Given the description of an element on the screen output the (x, y) to click on. 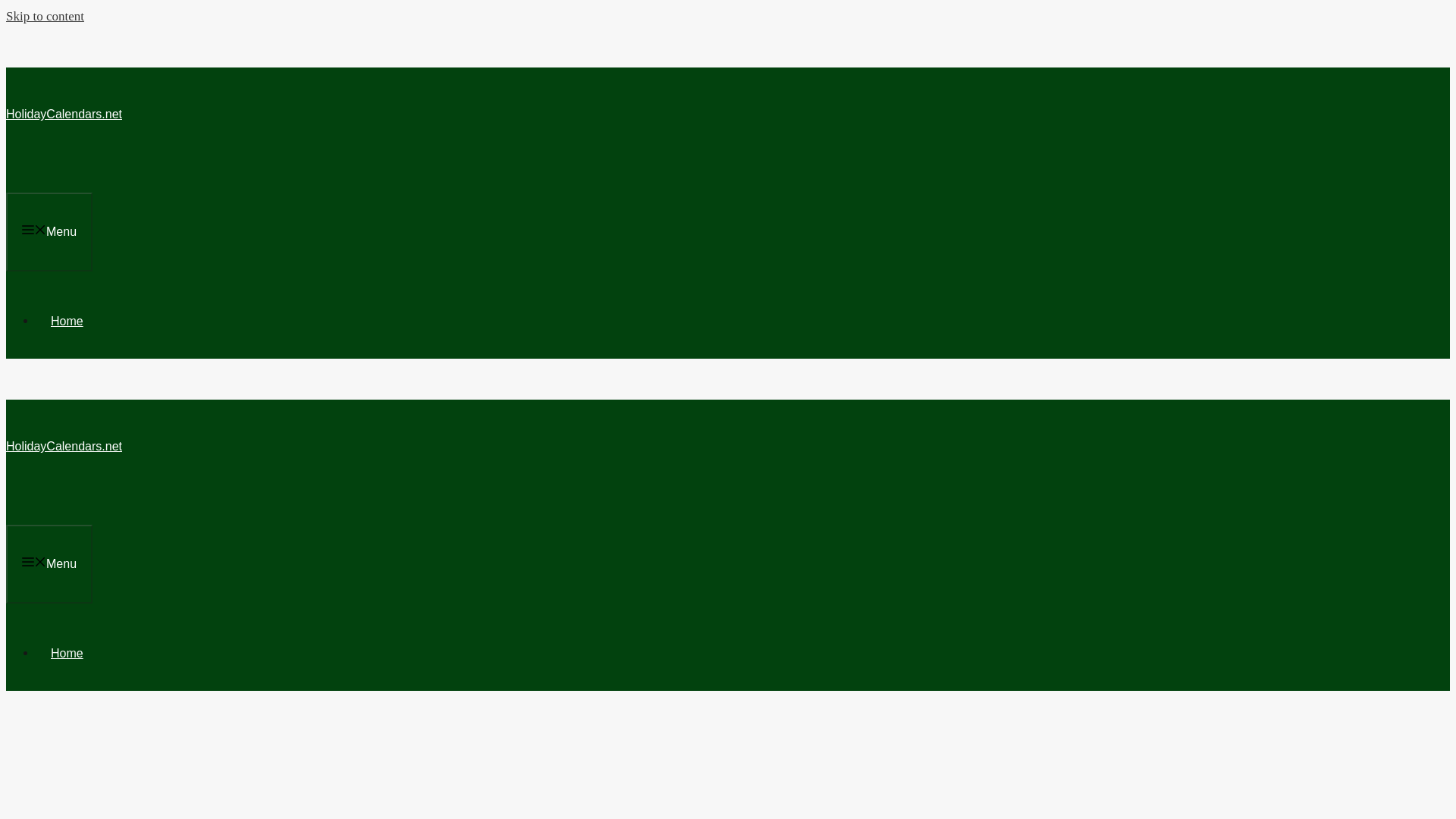
HolidayCalendars.net (63, 445)
Skip to content (44, 16)
Menu (49, 231)
HolidayCalendars.net (63, 113)
Skip to content (44, 16)
Home (66, 653)
Home (66, 320)
Menu (49, 563)
